Given the description of an element on the screen output the (x, y) to click on. 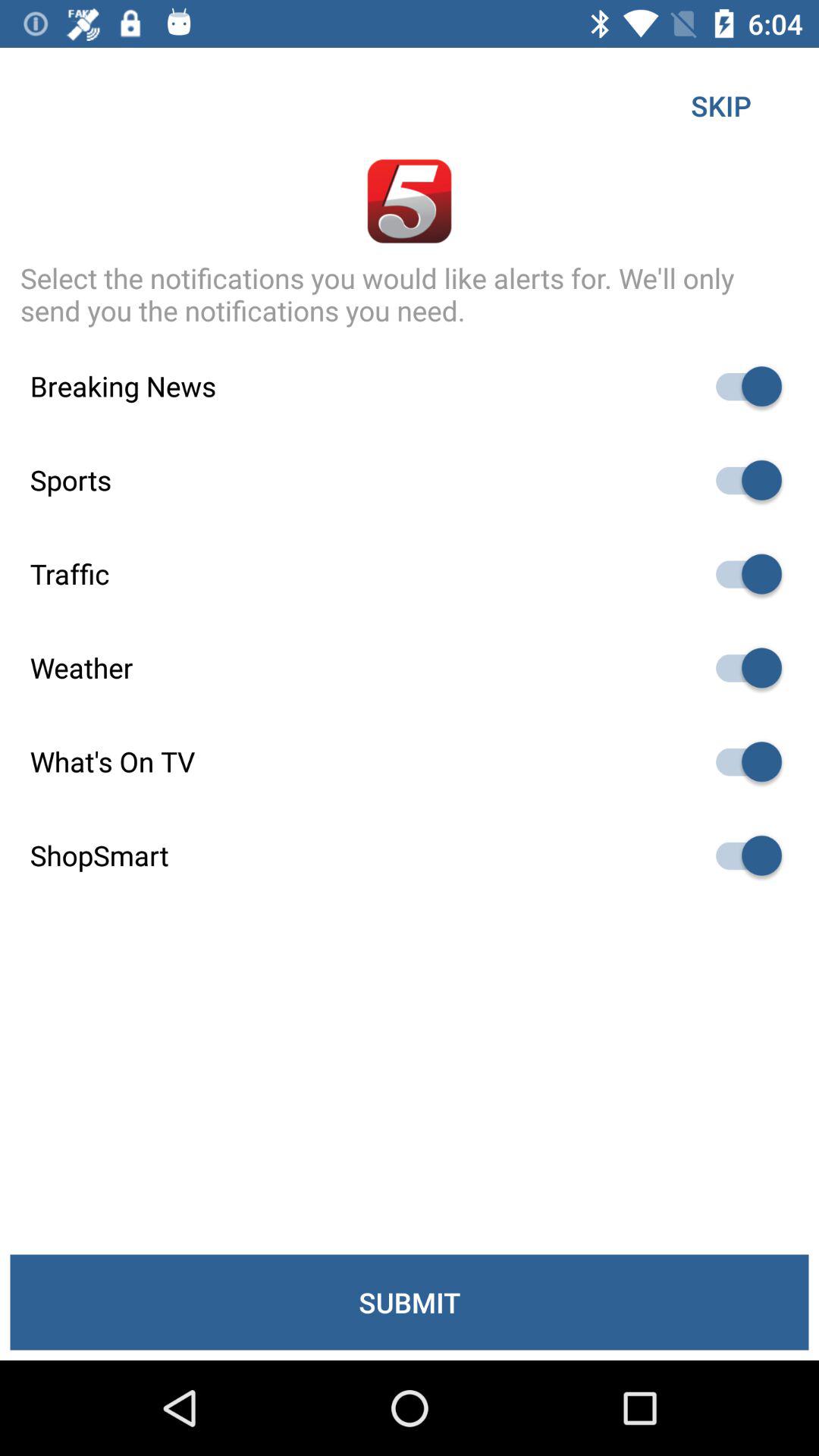
toggle the weather option (741, 667)
